Given the description of an element on the screen output the (x, y) to click on. 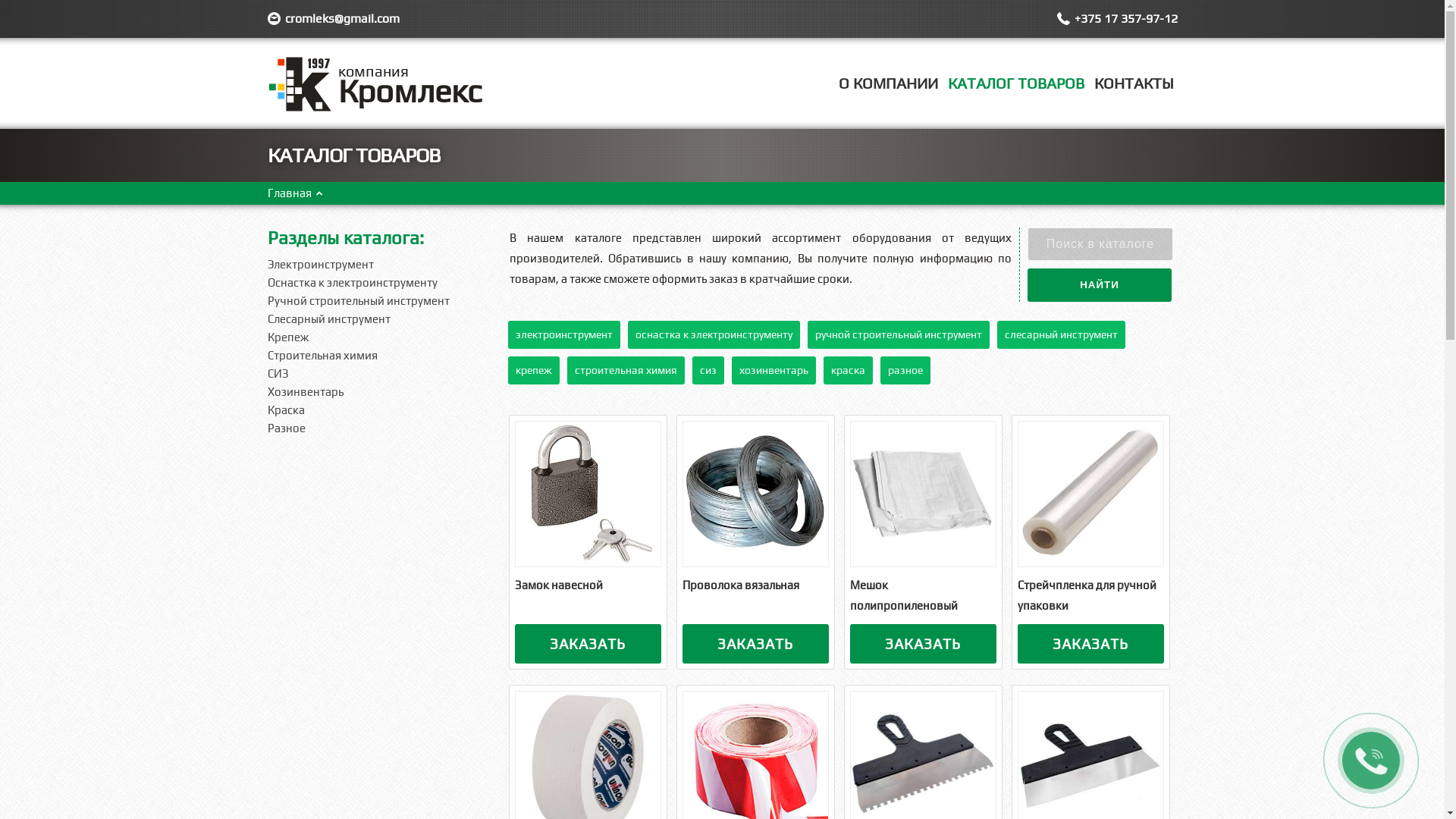
cromleks@gmail.com Element type: text (342, 18)
+375 17 357-97-12 Element type: text (1124, 18)
